Given the description of an element on the screen output the (x, y) to click on. 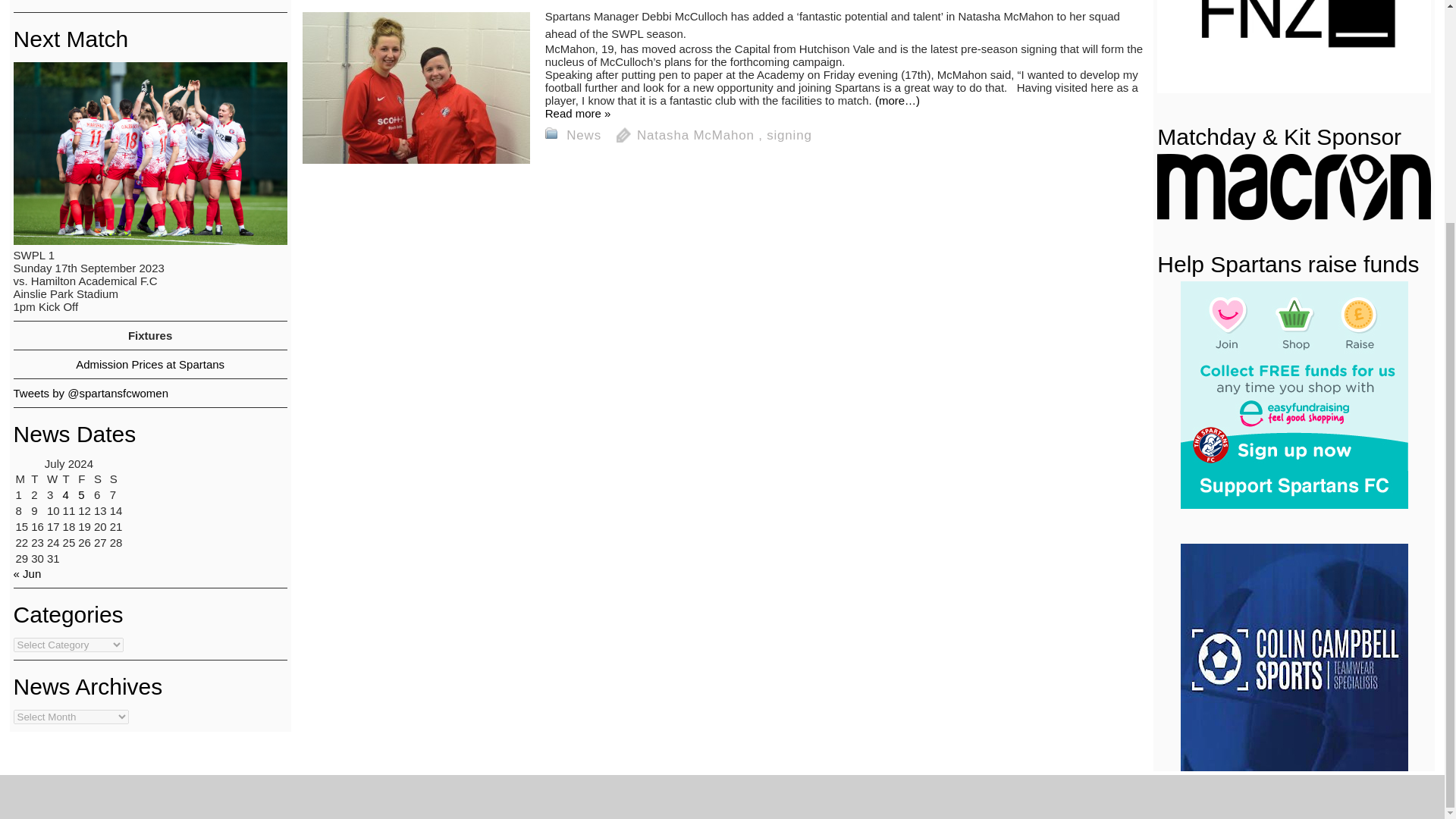
Admission Prices (149, 364)
Tuesday (37, 478)
Monday (21, 478)
